Given the description of an element on the screen output the (x, y) to click on. 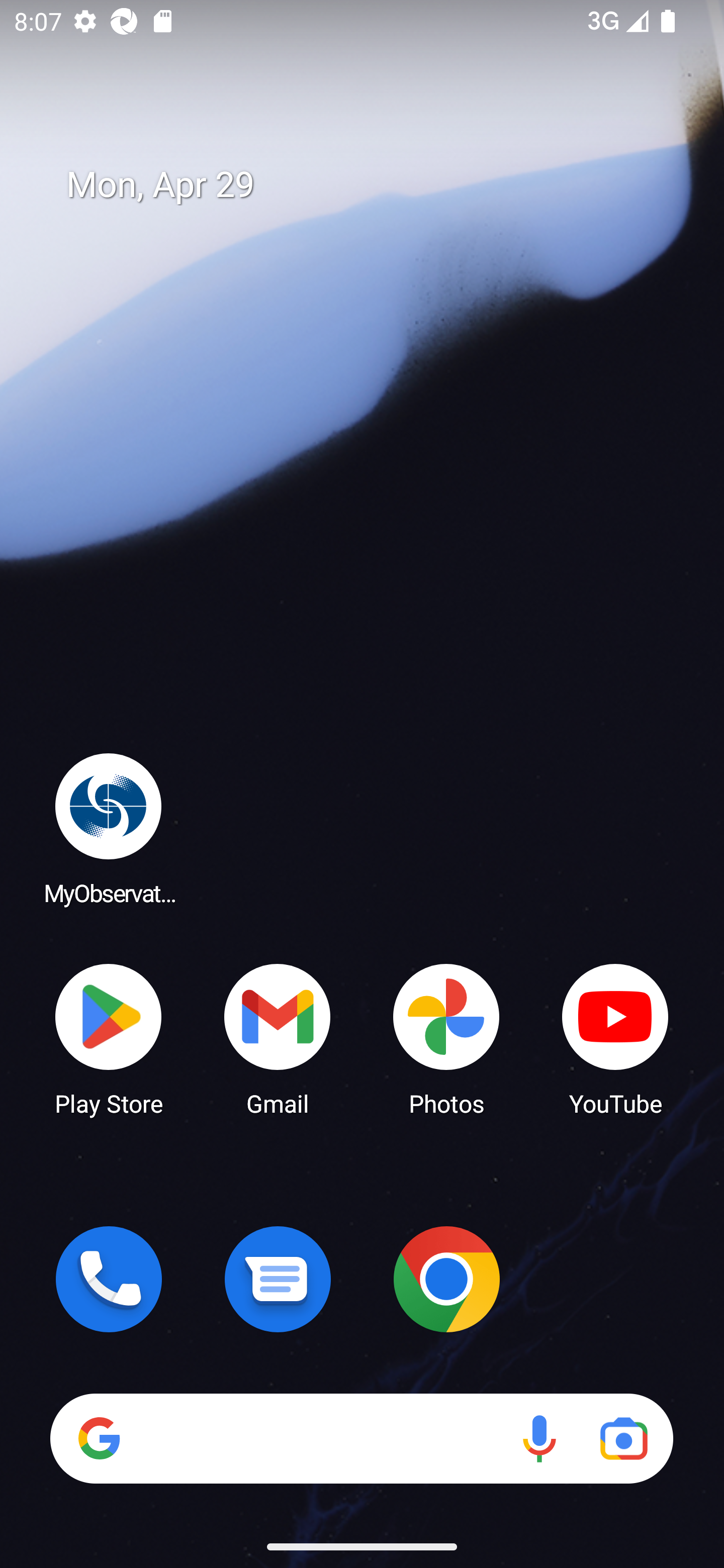
Mon, Apr 29 (375, 184)
MyObservatory (108, 828)
Play Store (108, 1038)
Gmail (277, 1038)
Photos (445, 1038)
YouTube (615, 1038)
Phone (108, 1279)
Messages (277, 1279)
Chrome (446, 1279)
Voice search (539, 1438)
Google Lens (623, 1438)
